Given the description of an element on the screen output the (x, y) to click on. 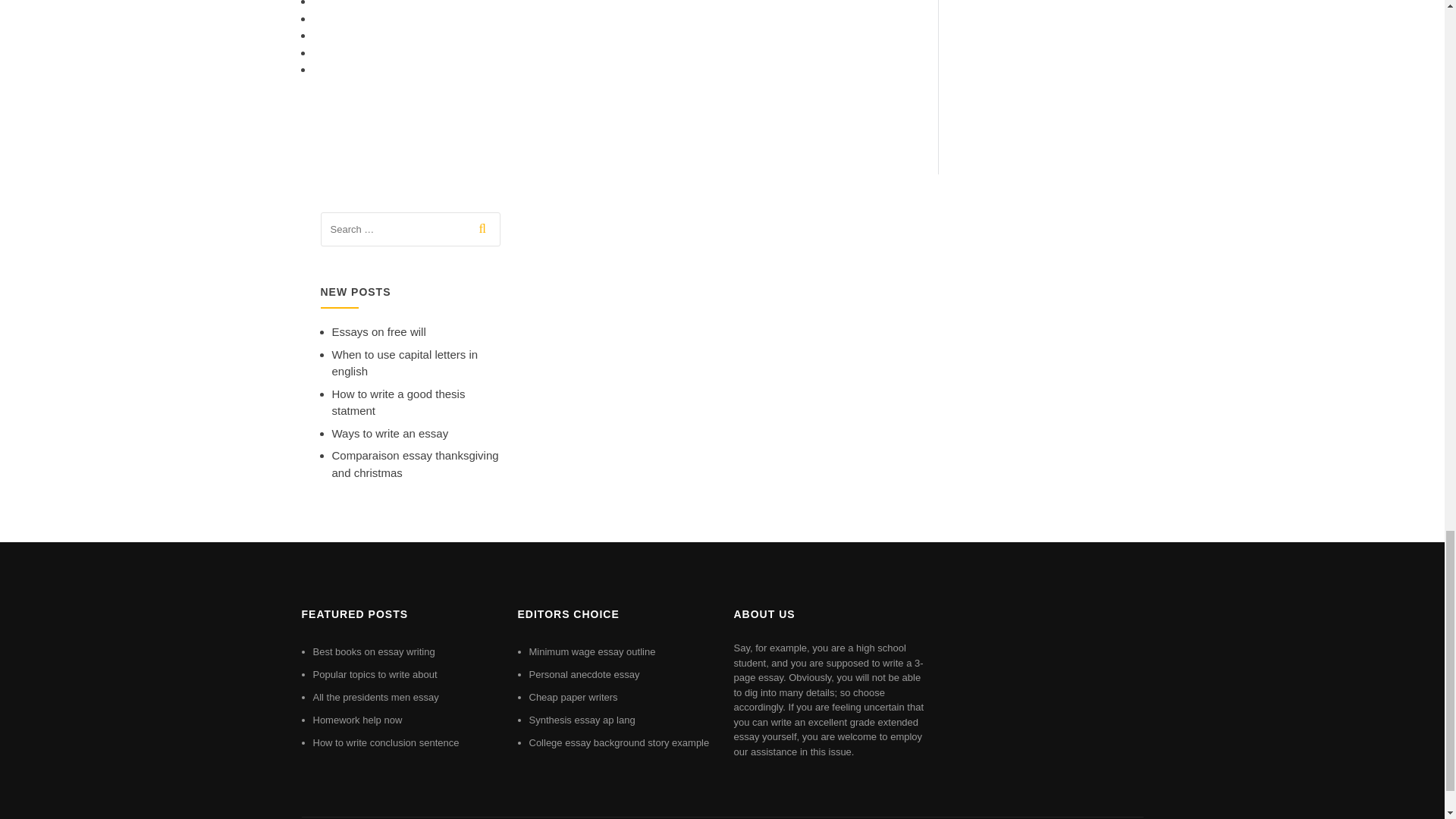
Best books on essay writing (373, 651)
Ways to write an essay (389, 432)
Personal anecdote essay (584, 674)
Cheap paper writers (573, 696)
How to write a good thesis statment (398, 402)
Homework help now (357, 719)
Synthesis essay ap lang (581, 719)
How to write conclusion sentence (385, 742)
Popular topics to write about (374, 674)
College essay background story example (619, 742)
Essays on free will (378, 331)
Minimum wage essay outline (592, 651)
All the presidents men essay (375, 696)
When to use capital letters in english (405, 363)
Comparaison essay thanksgiving and christmas (415, 463)
